Given the description of an element on the screen output the (x, y) to click on. 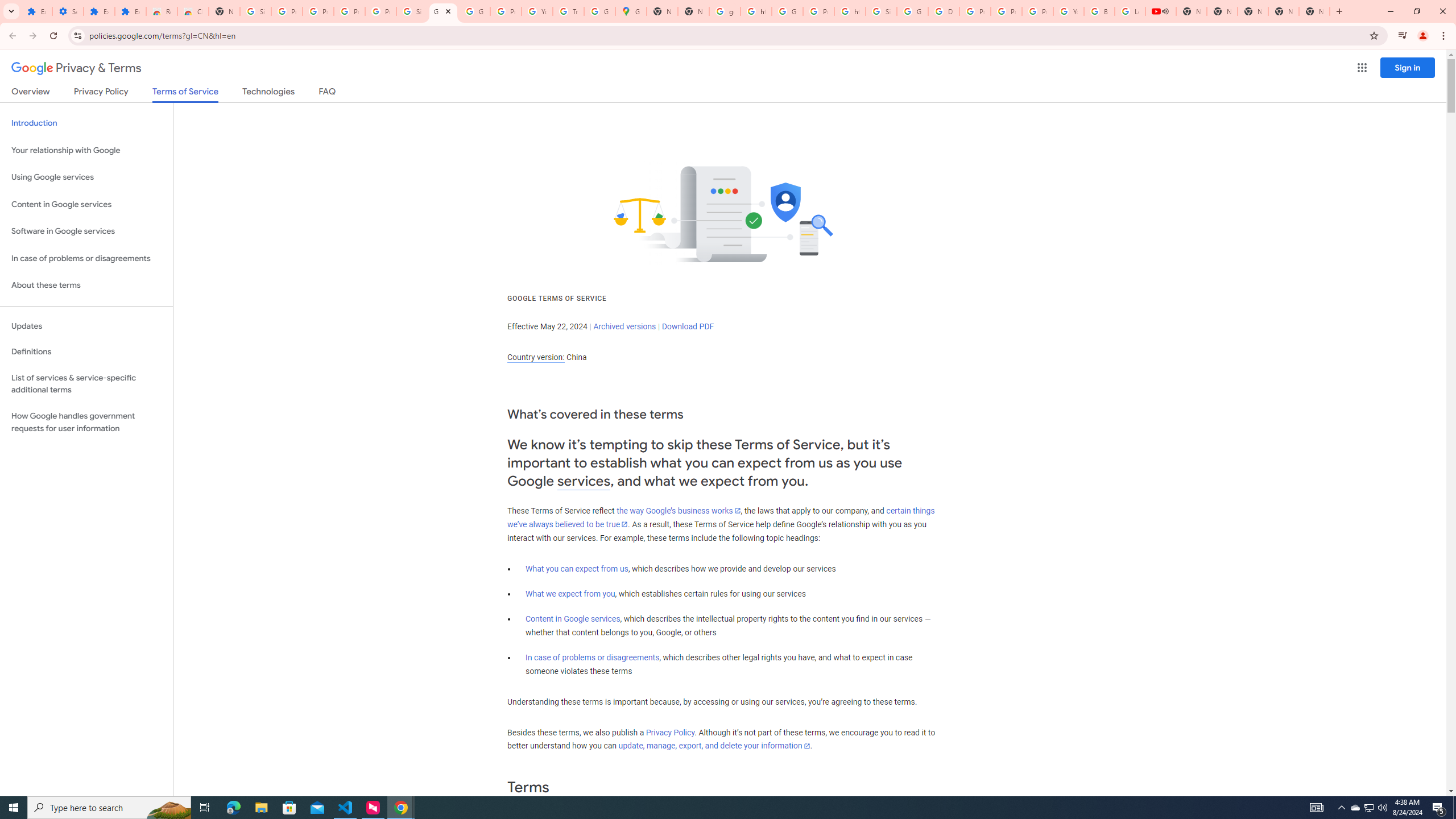
Extensions (130, 11)
services (583, 480)
Sign in - Google Accounts (881, 11)
Updates (86, 325)
New Tab (693, 11)
Privacy Help Center - Policies Help (1005, 11)
Browse Chrome as a guest - Computer - Google Chrome Help (1098, 11)
